Given the description of an element on the screen output the (x, y) to click on. 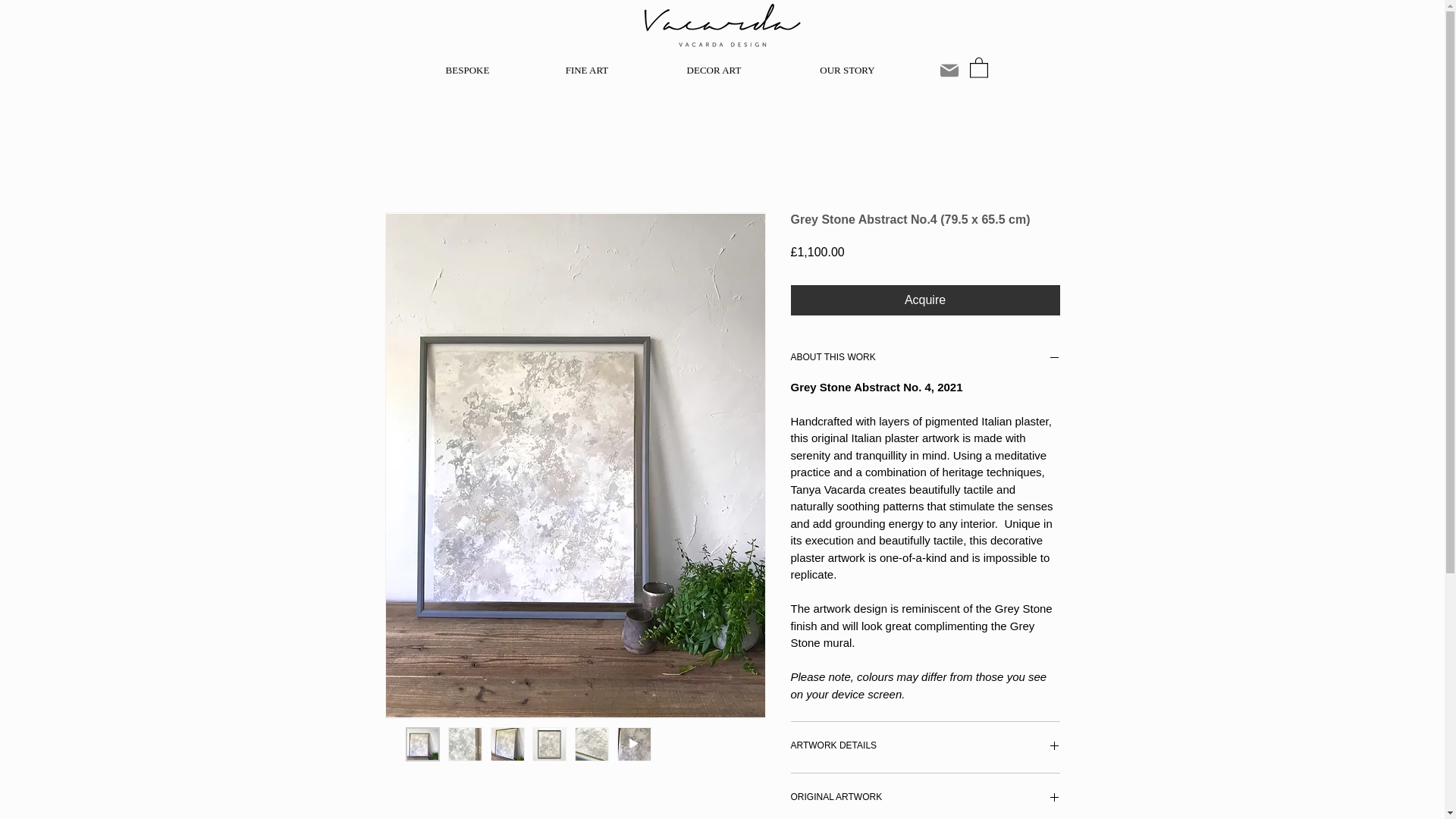
BESPOKE (466, 70)
ABOUT THIS WORK (924, 359)
DECOR ART (713, 70)
ORIGINAL ARTWORK (924, 798)
ARTWORK DETAILS (924, 747)
FINE ART (585, 70)
Acquire (924, 300)
